Given the description of an element on the screen output the (x, y) to click on. 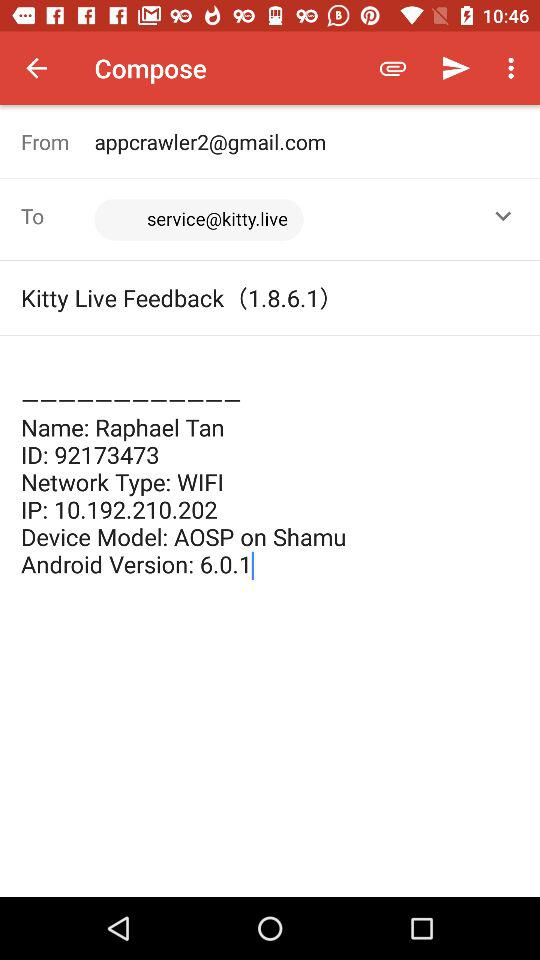
tap the name raphael tan item (270, 468)
